Given the description of an element on the screen output the (x, y) to click on. 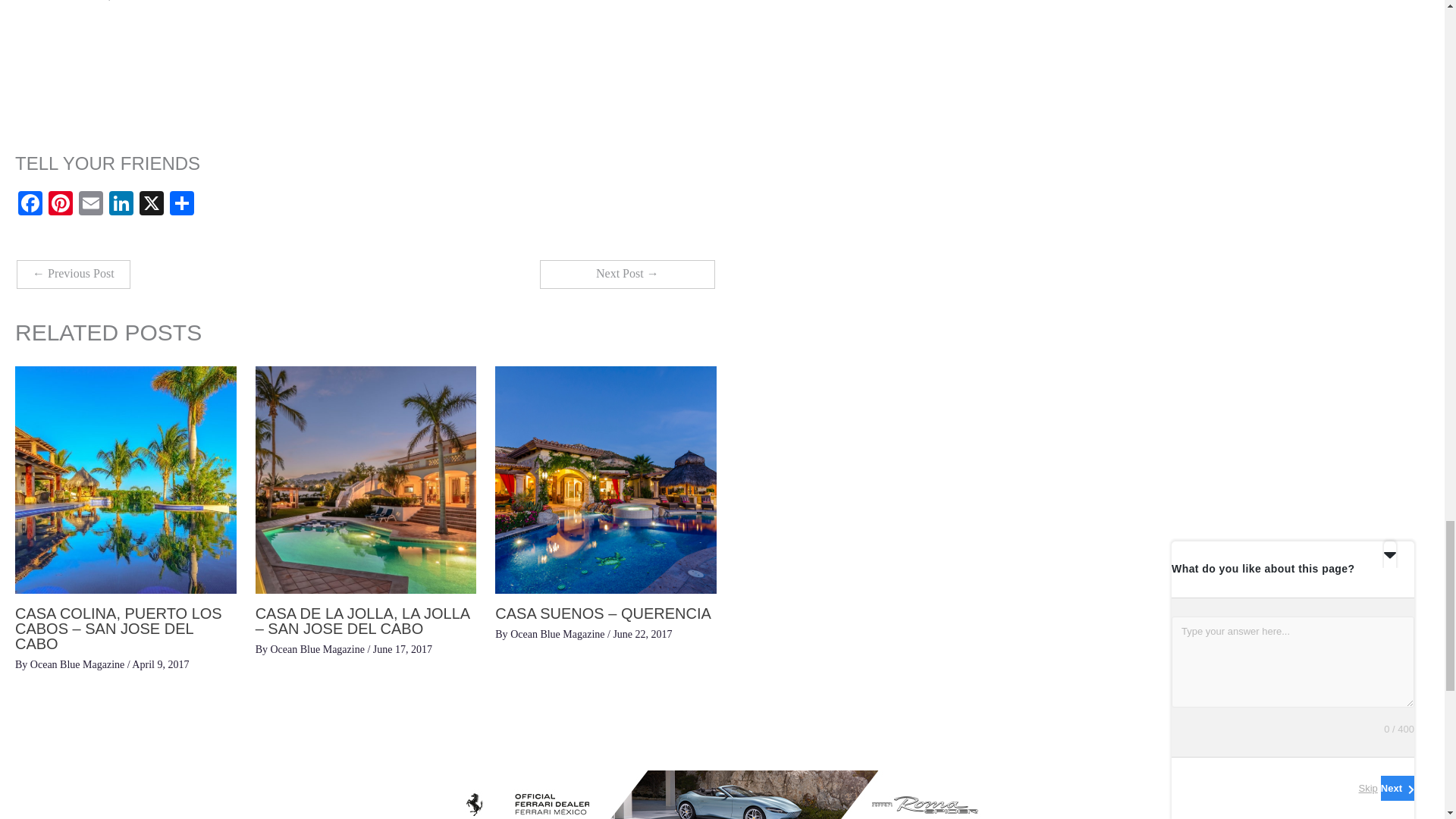
View all posts by Ocean Blue Magazine (559, 633)
View all posts by Ocean Blue Magazine (79, 664)
Email (90, 204)
LinkedIn (121, 204)
A Star-Studded NOBU Los Cabos Launch (627, 274)
The Latest in Haute Horology at SIAR 2019 (73, 274)
X (151, 204)
View all posts by Ocean Blue Magazine (317, 649)
Facebook (29, 204)
Pinterest (60, 204)
